Given the description of an element on the screen output the (x, y) to click on. 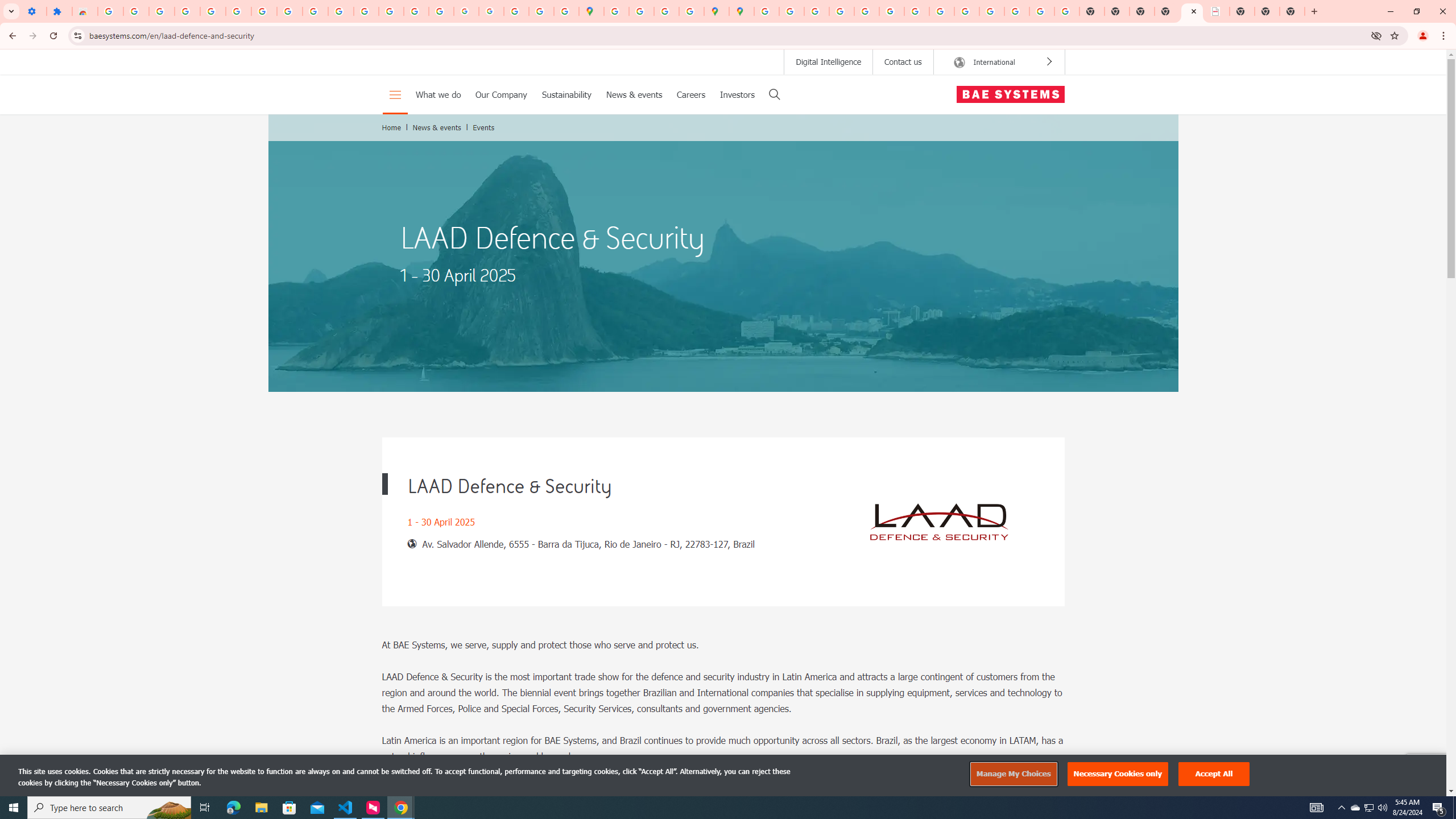
Delete photos & videos - Computer - Google Photos Help (161, 11)
Privacy Help Center - Policies Help (841, 11)
Settings - On startup (34, 11)
Contact us (903, 61)
https://scholar.google.com/ (365, 11)
BAE Systems (1010, 94)
Privacy Help Center - Policies Help (816, 11)
